Given the description of an element on the screen output the (x, y) to click on. 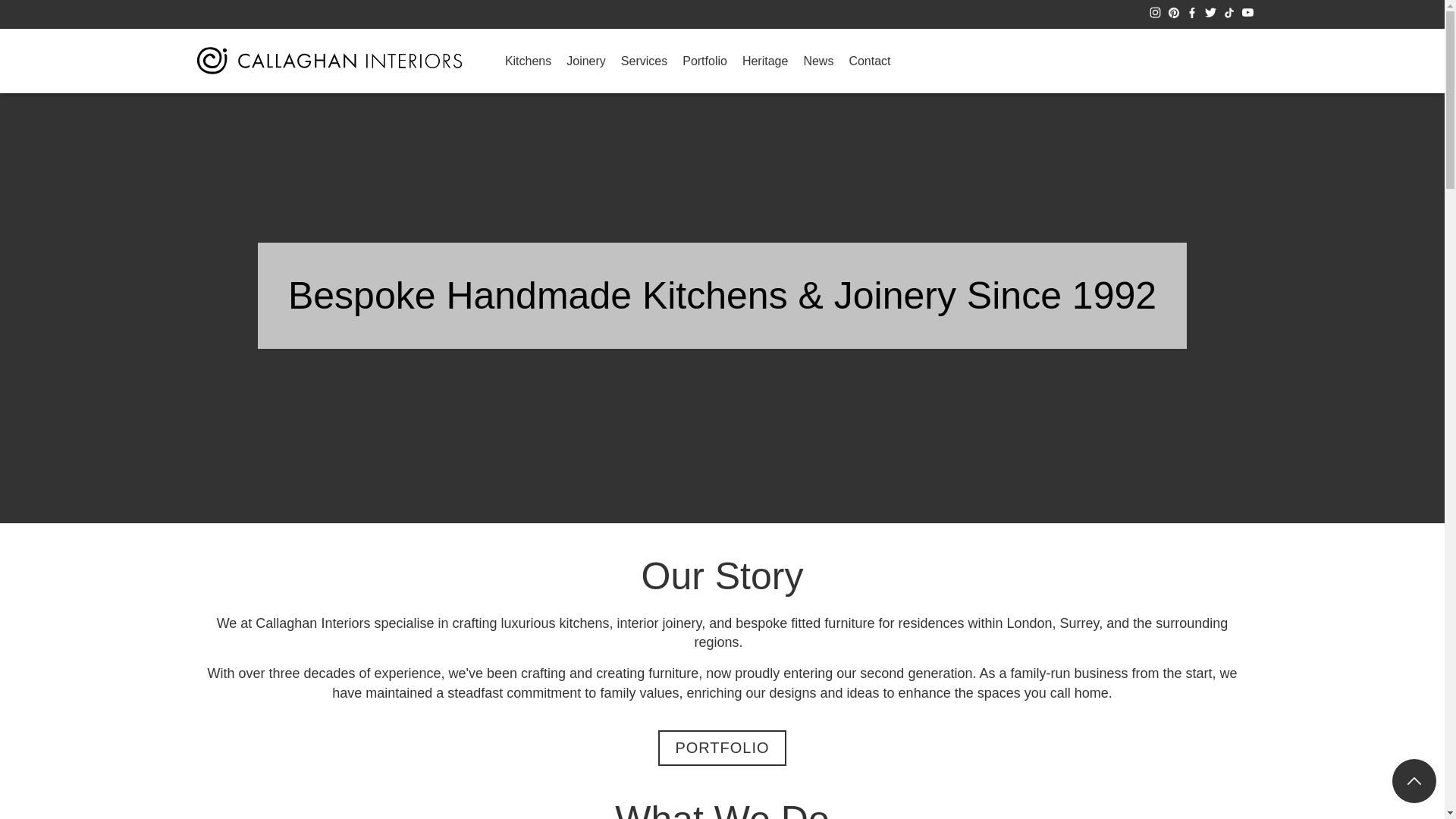
Services (643, 60)
Portfolio (722, 747)
Callaghan Interiors homepage (327, 60)
Heritage (764, 60)
Portfolio (705, 60)
Kitchens (528, 60)
